Given the description of an element on the screen output the (x, y) to click on. 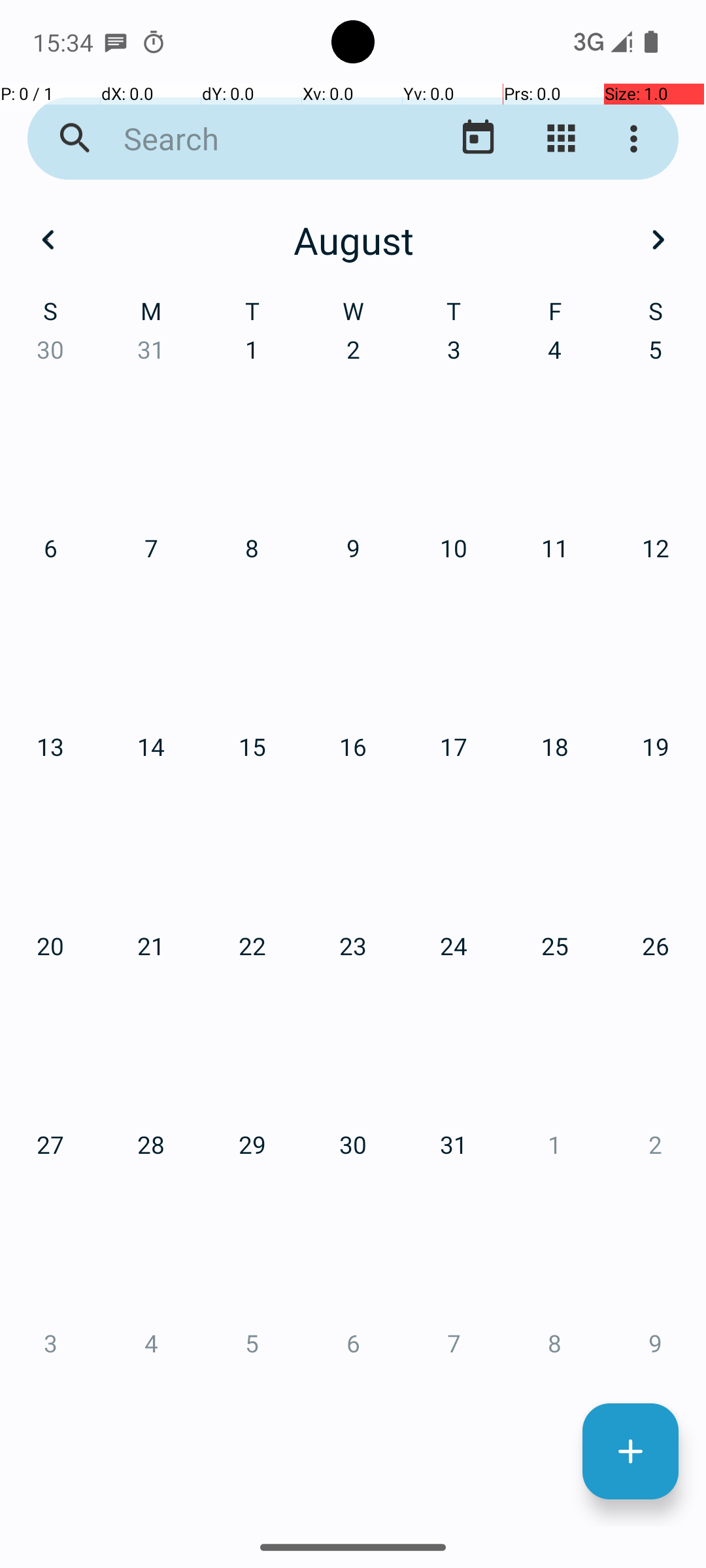
August Element type: android.widget.TextView (352, 239)
